Given the description of an element on the screen output the (x, y) to click on. 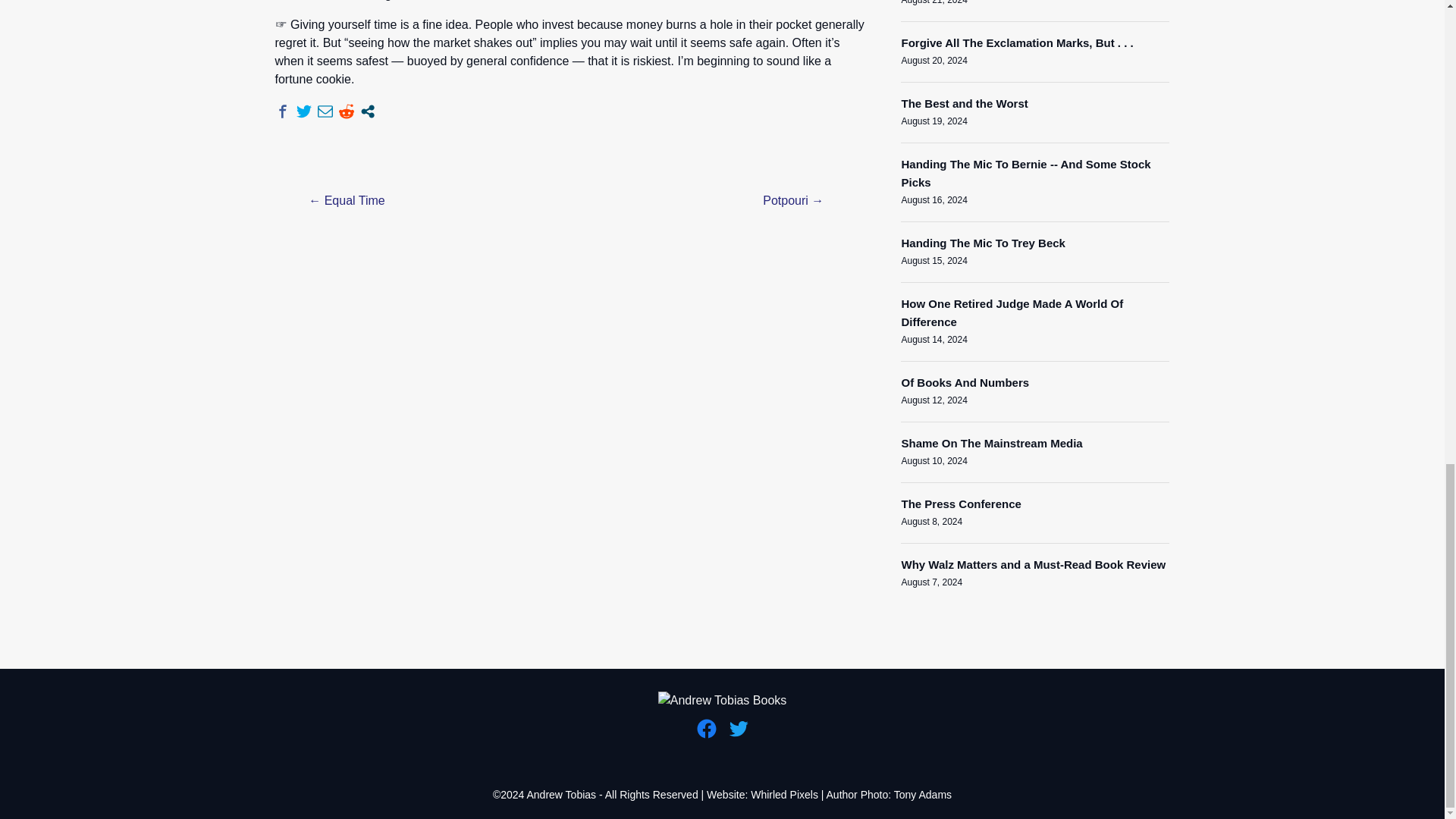
Send by email (324, 111)
Tweet (303, 111)
Permalink to Forgive All The Exclamation Marks, But . . . (1016, 42)
Permalink to Of Books And Numbers (965, 382)
Permalink to Shame On The Mainstream Media (991, 442)
Permalink to The Best and the Worst (964, 103)
The Best and the Worst (964, 103)
Permalink to The Press Conference (960, 503)
Permalink to Handing The Mic To Trey Beck (982, 242)
